Given the description of an element on the screen output the (x, y) to click on. 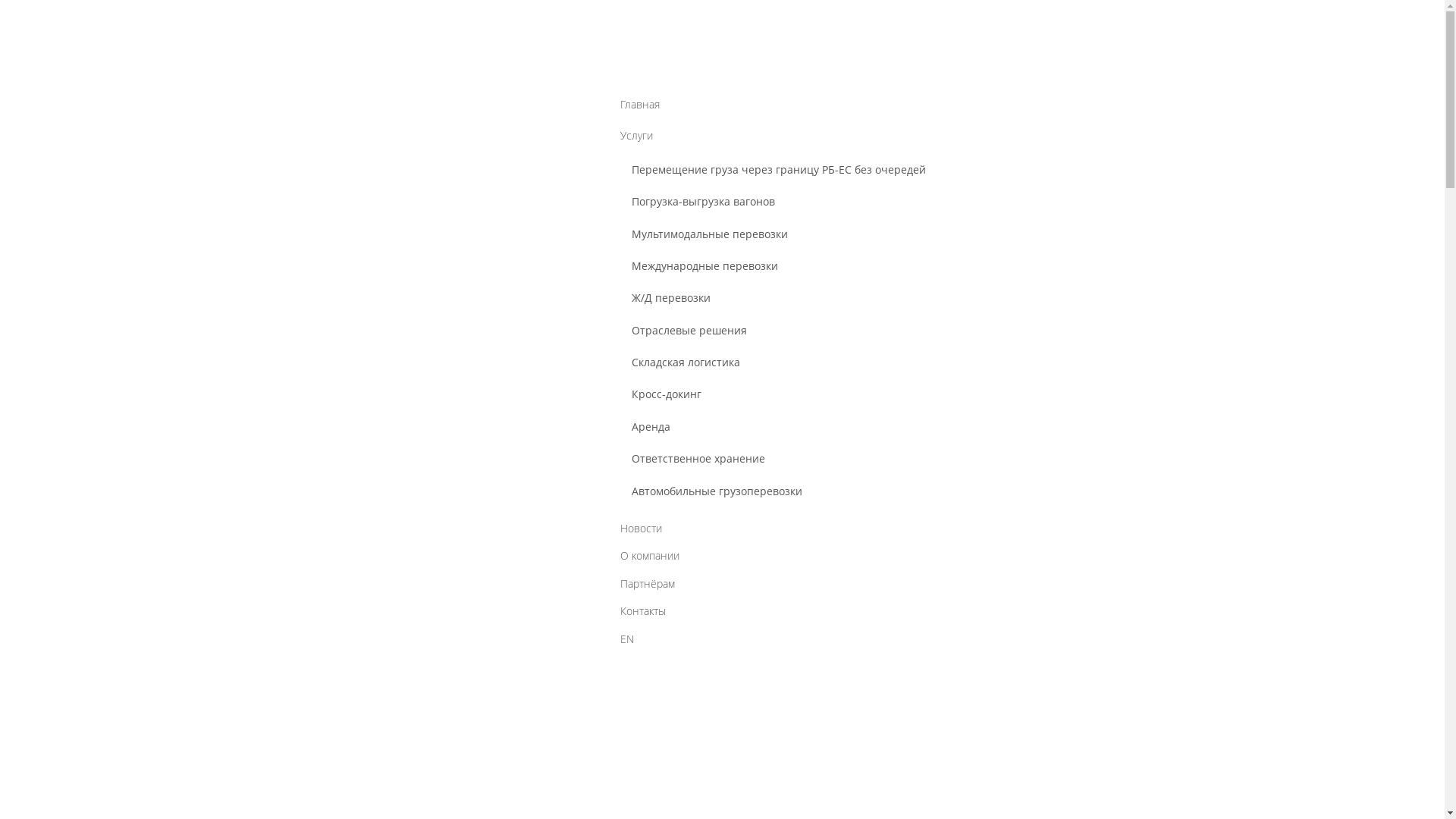
EN Element type: text (1254, 758)
EN Element type: text (722, 638)
